Given the description of an element on the screen output the (x, y) to click on. 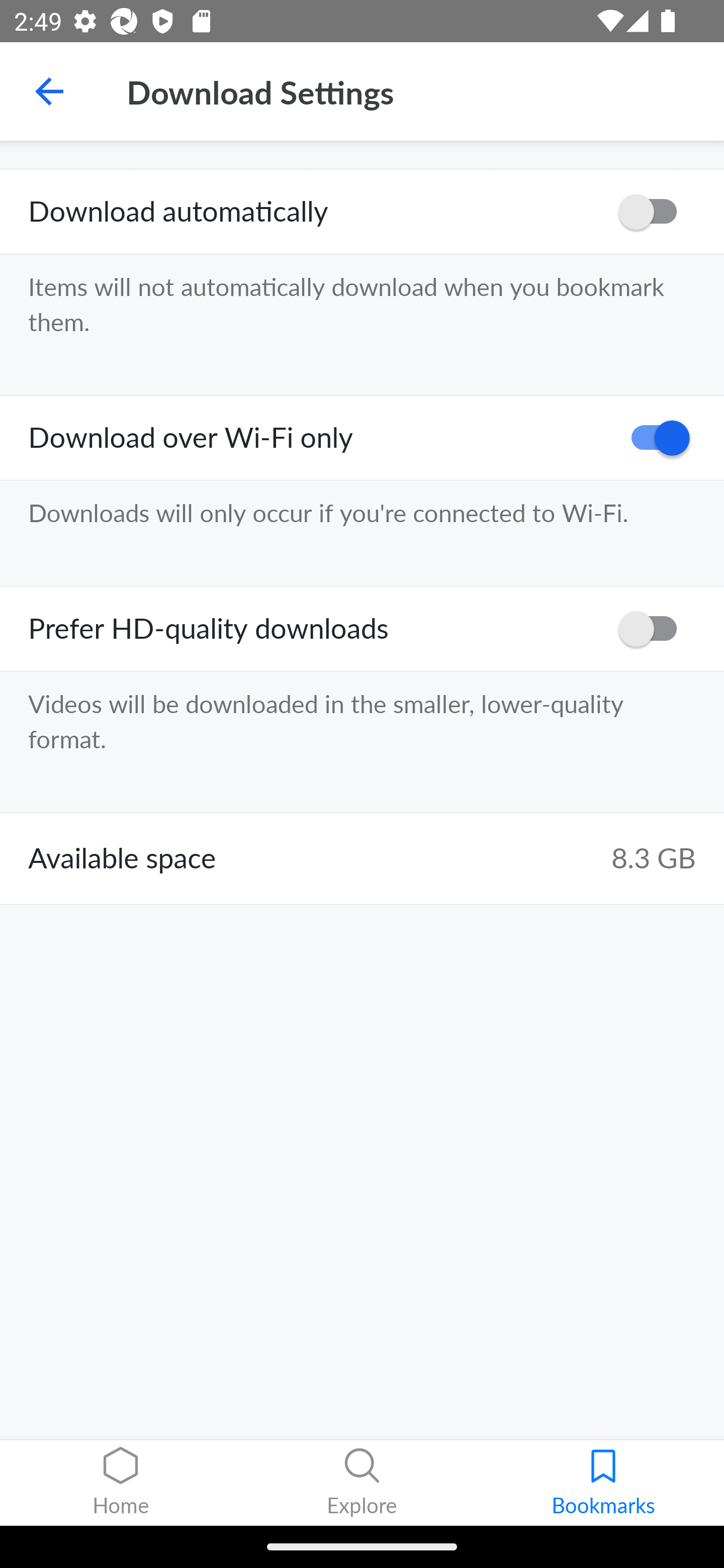
Navigate up (49, 91)
OFF (653, 211)
ON (653, 437)
OFF (653, 628)
Home (120, 1482)
Explore (361, 1482)
Bookmarks (603, 1482)
